Given the description of an element on the screen output the (x, y) to click on. 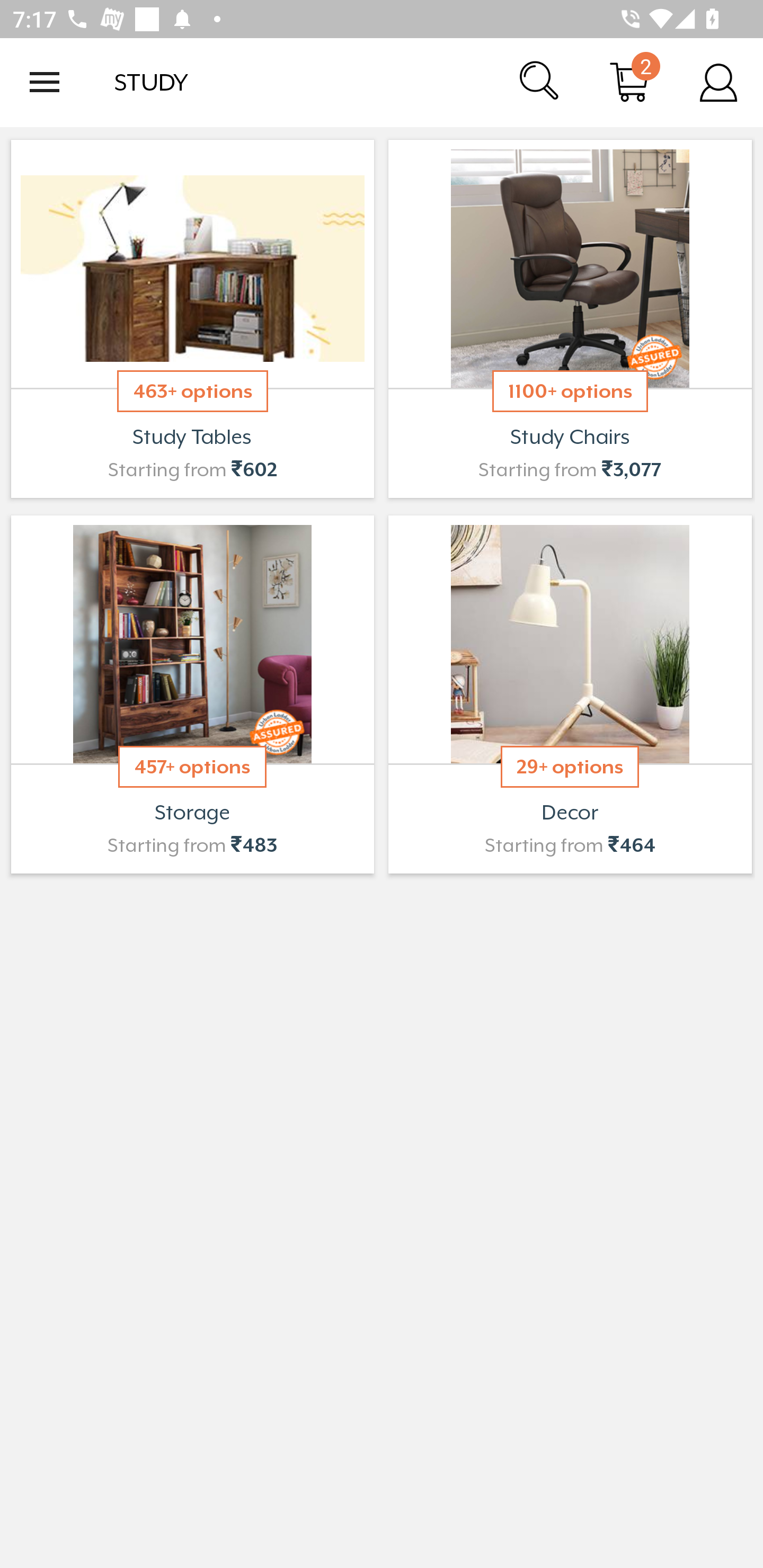
Open navigation drawer (44, 82)
Search (540, 81)
Cart (629, 81)
Account Details (718, 81)
463+ options Study Tables Starting from  ₹602 (191, 318)
1100+ options Study Chairs Starting from  ₹3,077 (570, 318)
457+ options Storage Starting from  ₹483 (191, 694)
29+ options Decor Starting from  ₹464 (570, 694)
